Given the description of an element on the screen output the (x, y) to click on. 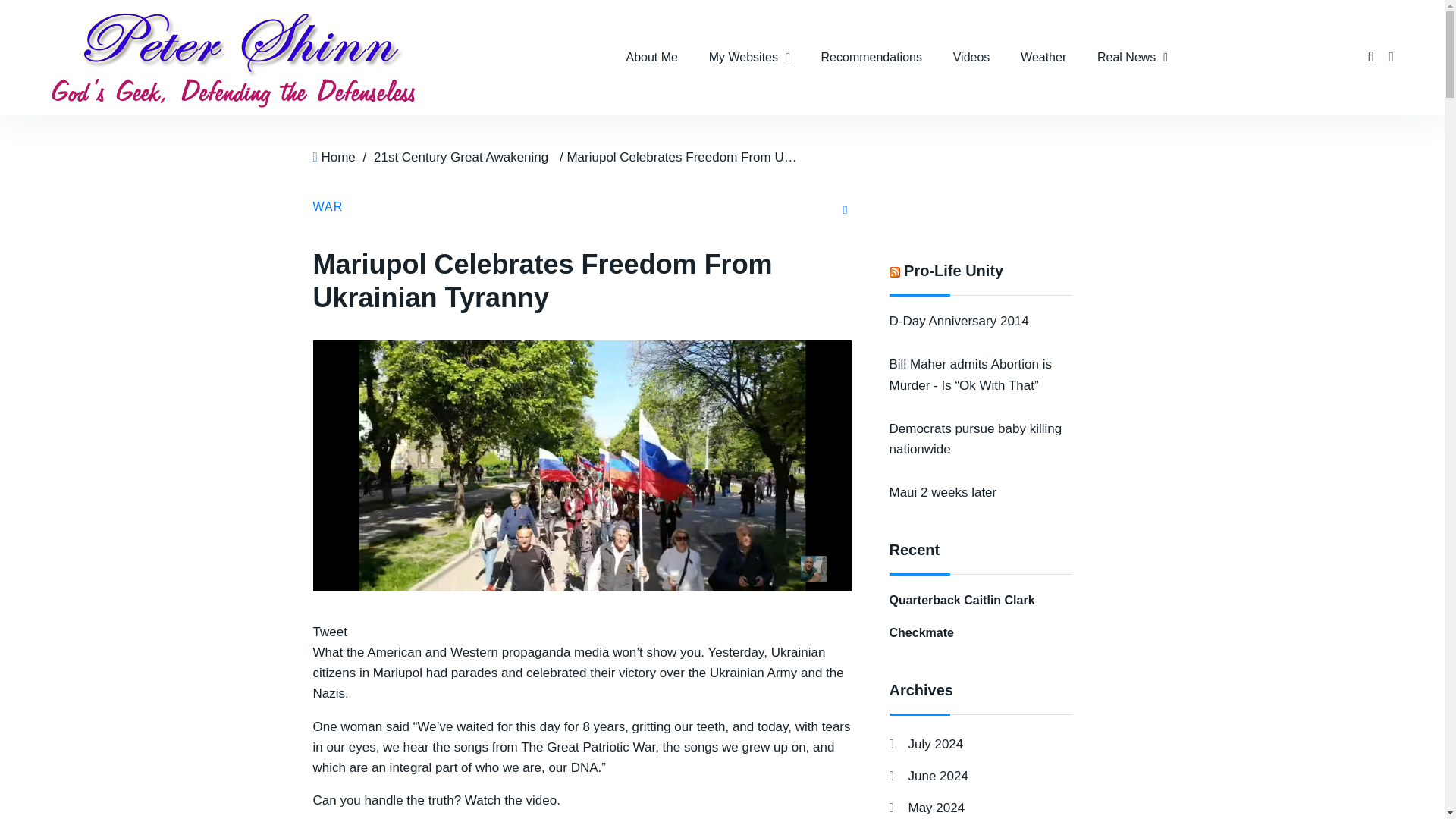
Recommendations (872, 57)
Home (337, 156)
My Websites (749, 57)
D-Day Anniversary 2014 (957, 320)
Pro-Life Unity (953, 270)
Democrats pursue baby killing nationwide (974, 438)
About Me (650, 57)
Videos (971, 57)
WAR (327, 205)
Weather (1043, 57)
Real News (1131, 57)
21st Century Great Awakening (461, 156)
Tweet (329, 631)
